Given the description of an element on the screen output the (x, y) to click on. 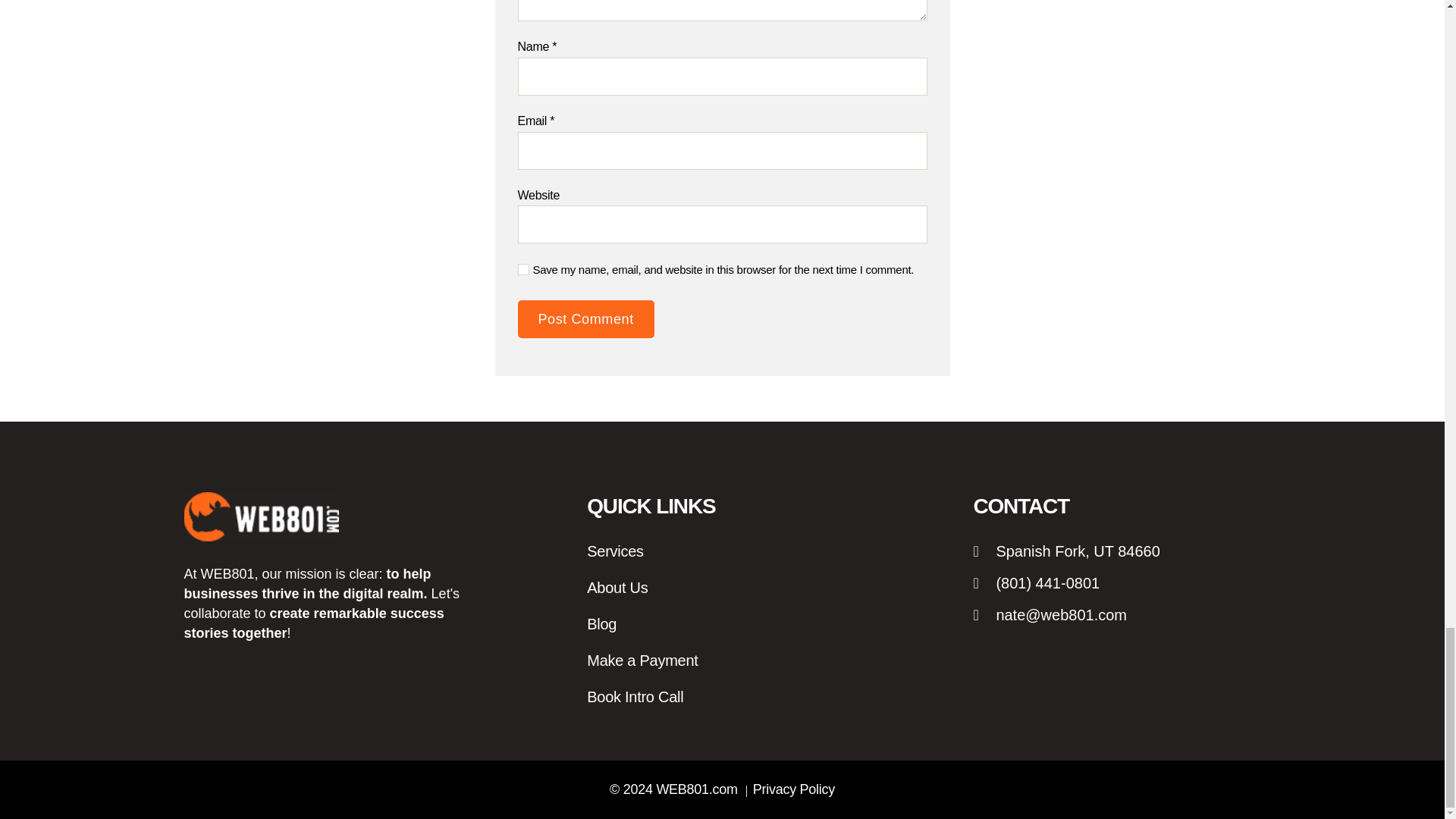
Post Comment (584, 319)
yes (522, 269)
Post Comment (584, 319)
